Given the description of an element on the screen output the (x, y) to click on. 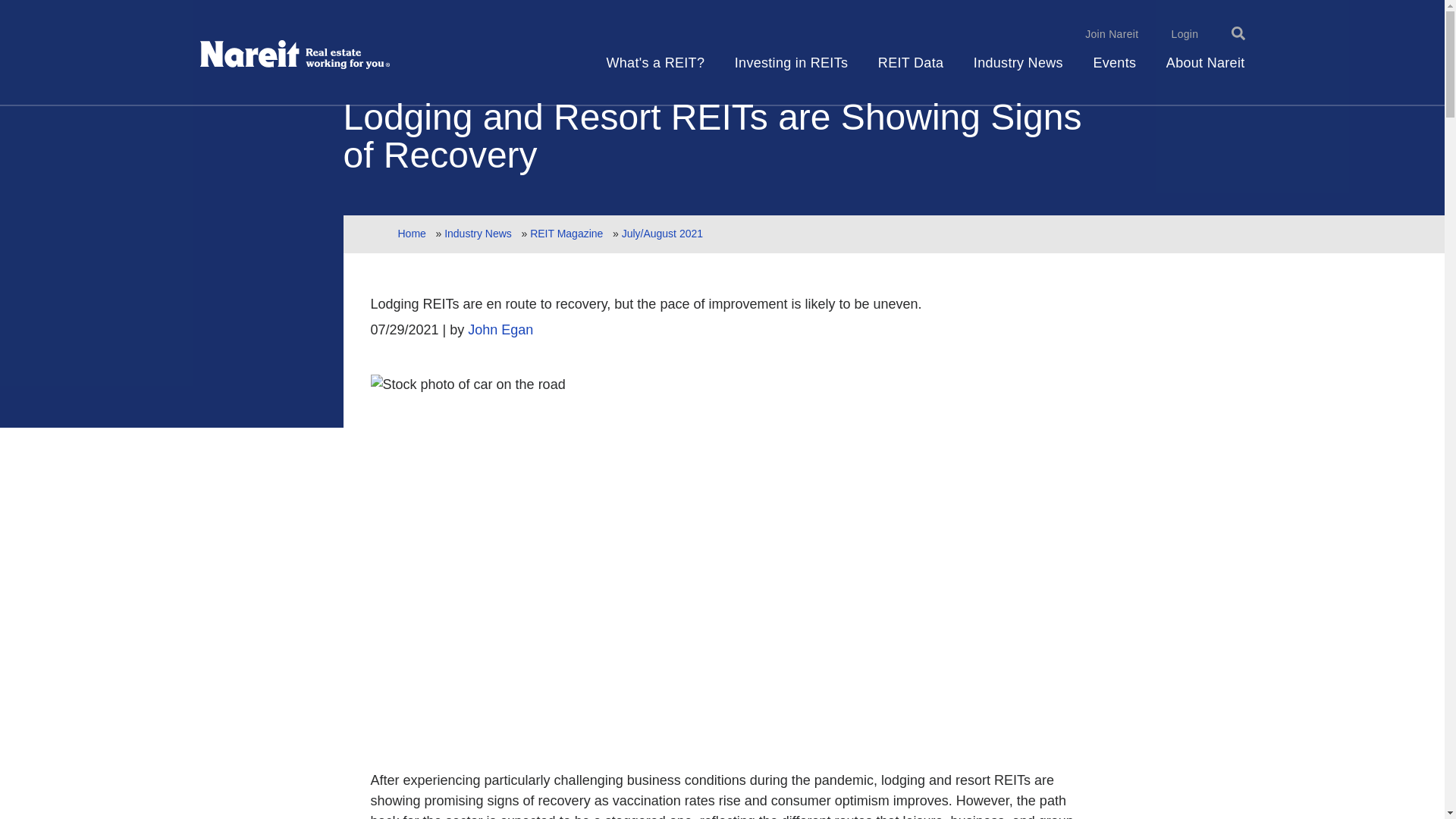
SKIP TO MAIN CONTENT (3, 3)
Close (1199, 37)
REIT Data (910, 69)
Search (1188, 28)
Home (295, 54)
Investing in REITs (791, 69)
Join Nareit (1111, 33)
Industry News (1018, 69)
Toggle Search Box (1237, 33)
What's a REIT? (655, 69)
